Given the description of an element on the screen output the (x, y) to click on. 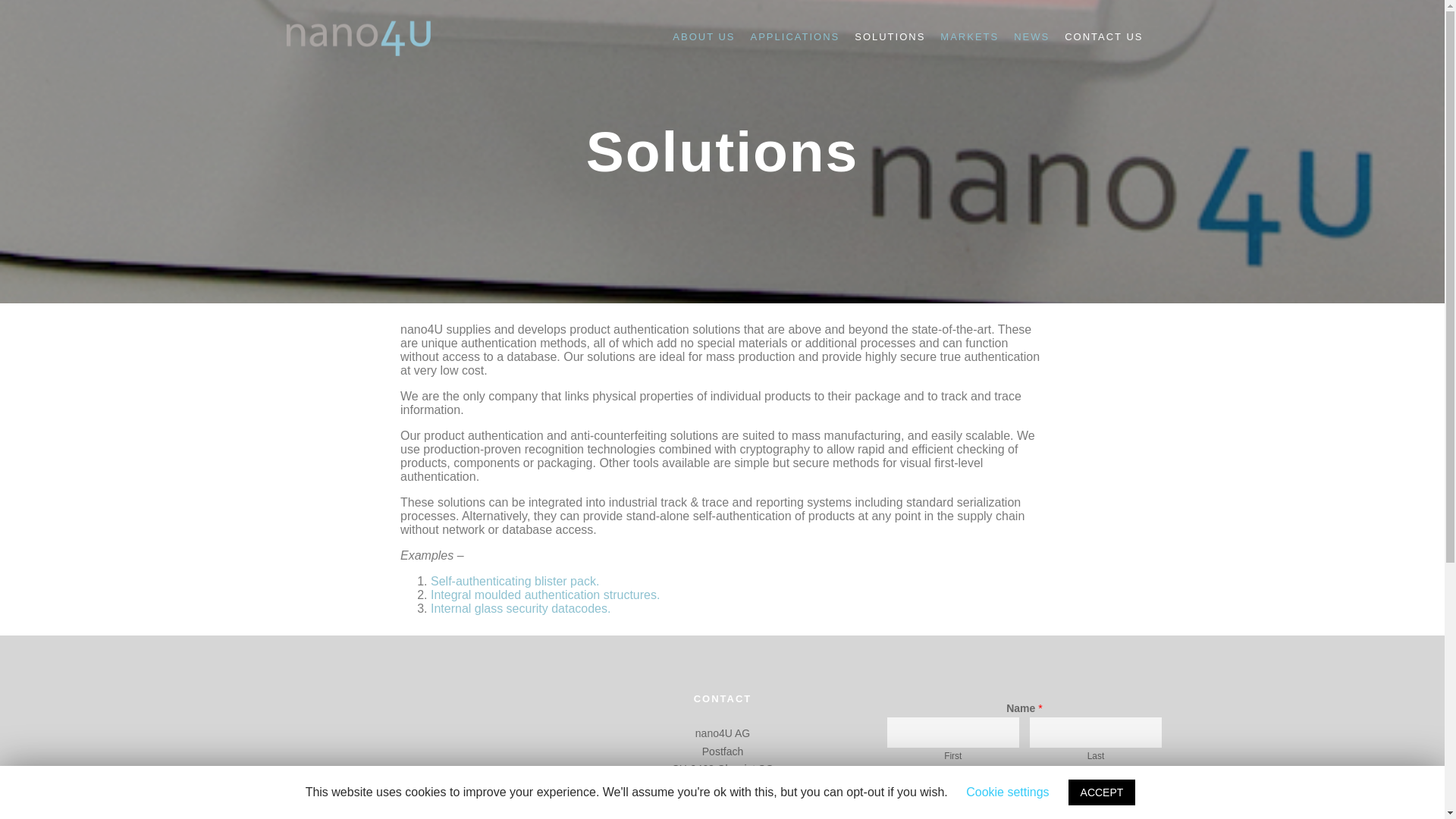
Integral moulded authentication structures. (544, 594)
nano4u (357, 36)
CONTACT US (1103, 36)
APPLICATIONS (794, 36)
ABOUT US (703, 36)
ACCEPT (1101, 792)
MARKETS (969, 36)
Self-authenticating blister pack. (514, 581)
SOLUTIONS (890, 36)
Cookie settings (1007, 791)
Internal glass security datacodes. (520, 608)
